Given the description of an element on the screen output the (x, y) to click on. 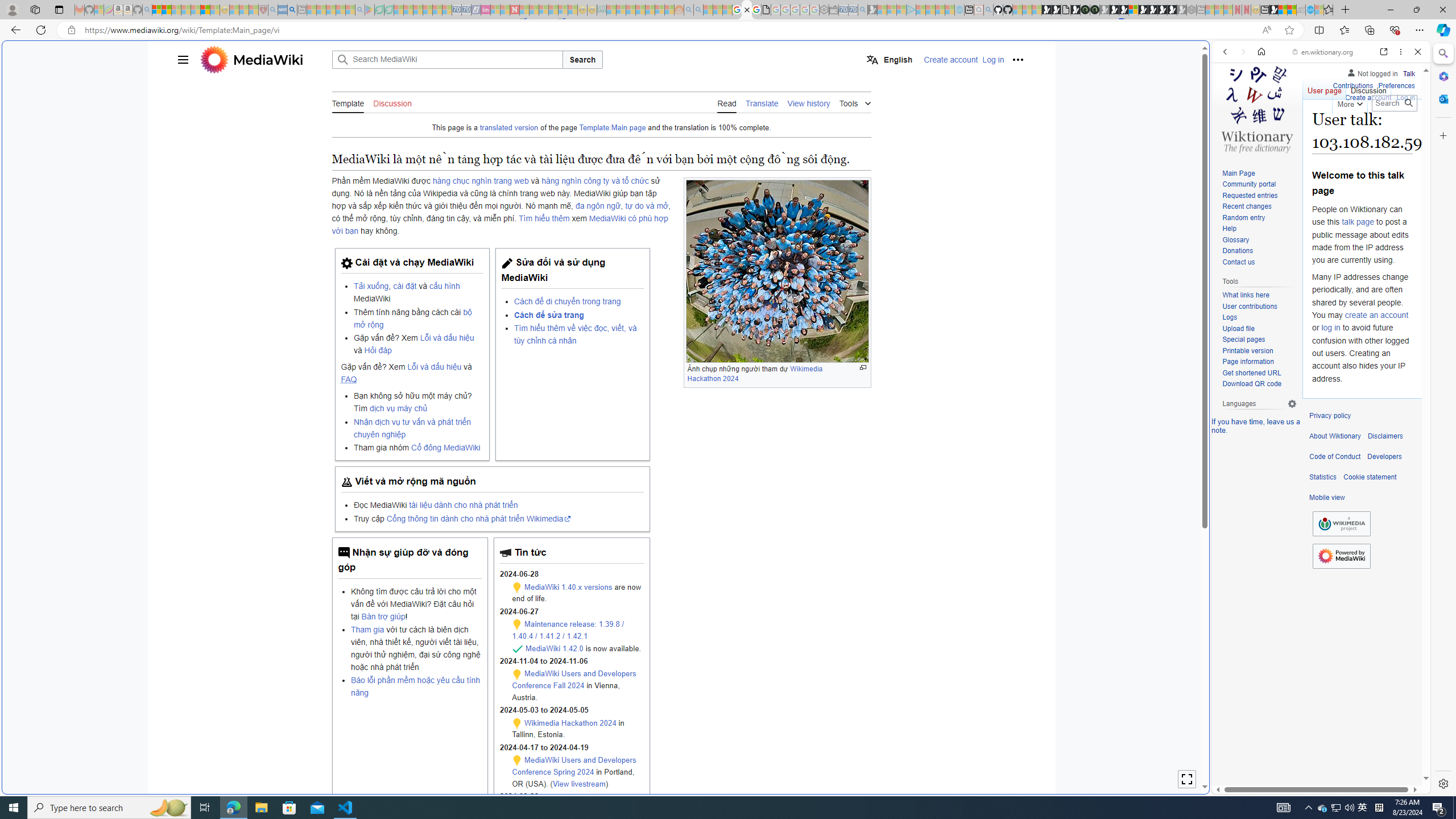
Search MediaWiki (447, 59)
Developers (1384, 456)
utah sues federal government - Search (291, 9)
Talk (1408, 73)
Go (1408, 102)
